Given the description of an element on the screen output the (x, y) to click on. 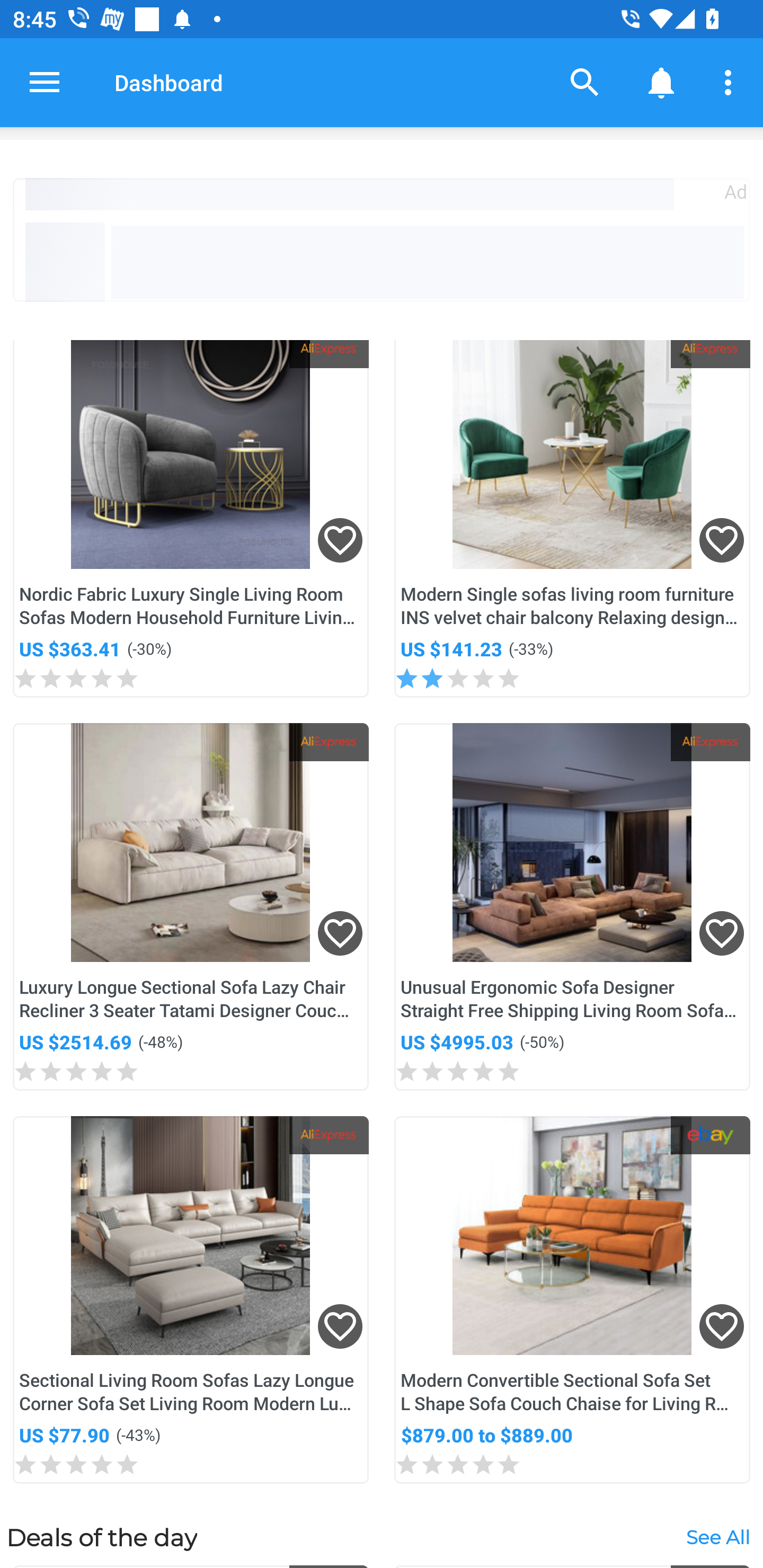
Open navigation drawer (44, 82)
Search (585, 81)
More options (731, 81)
See All (717, 1536)
